Given the description of an element on the screen output the (x, y) to click on. 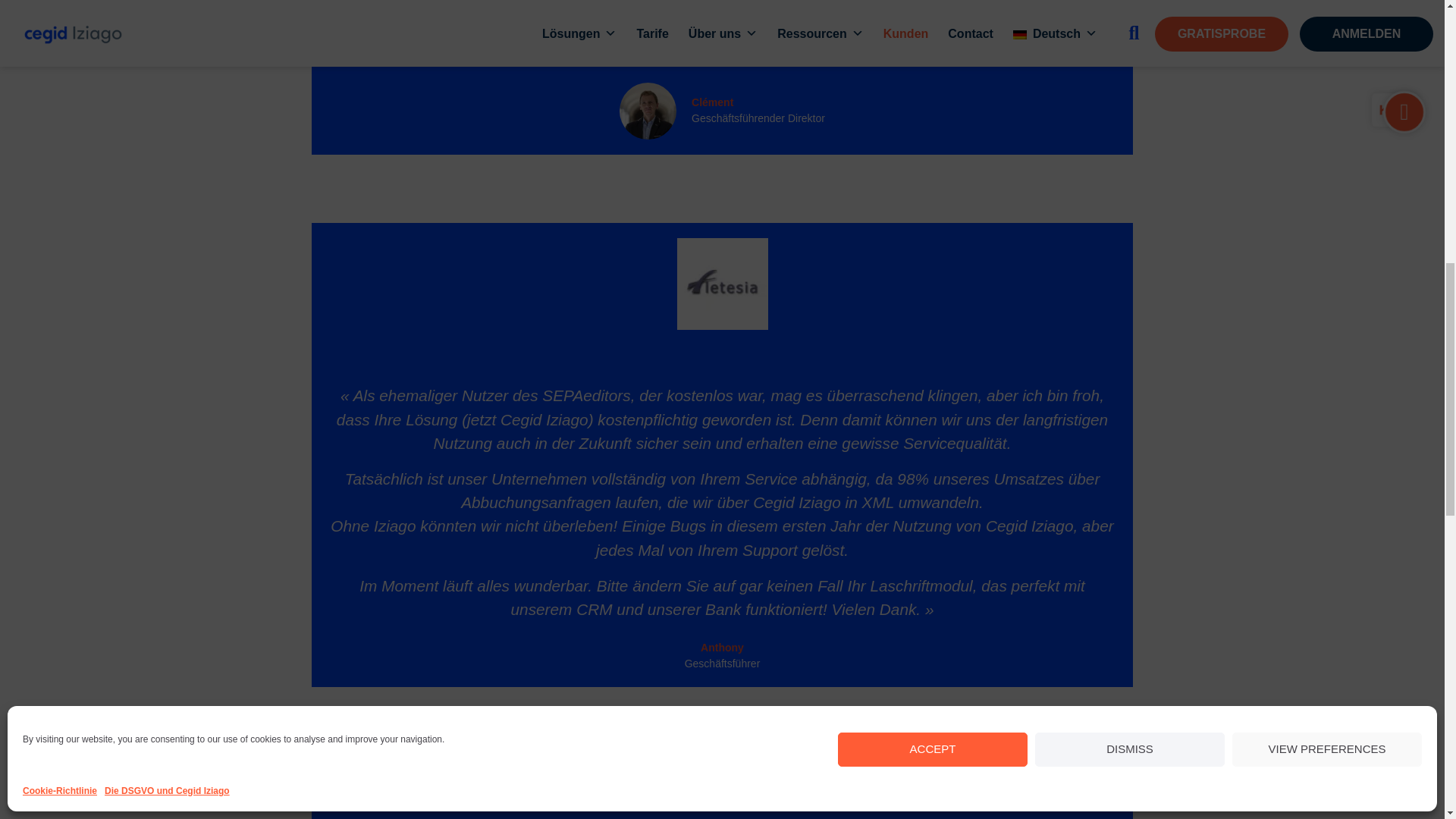
DISMISS (1129, 339)
VIEW PREFERENCES (1326, 339)
Cookie-Richtlinie (60, 381)
Die DSGVO und Cegid Iziago (167, 381)
ACCEPT (932, 339)
